Given the description of an element on the screen output the (x, y) to click on. 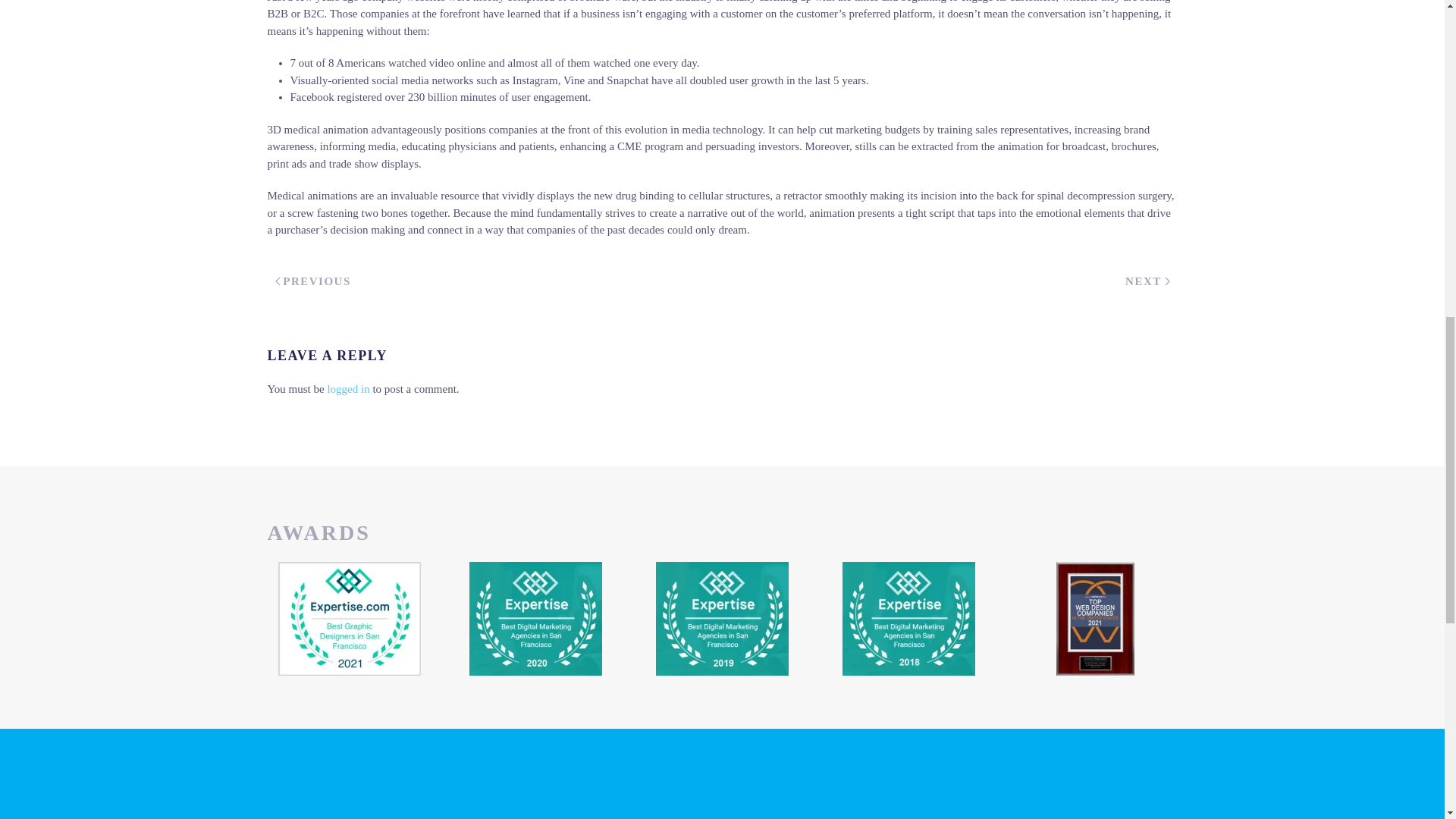
PREVIOUS (312, 281)
logged in (347, 388)
NEXT (1147, 281)
